Given the description of an element on the screen output the (x, y) to click on. 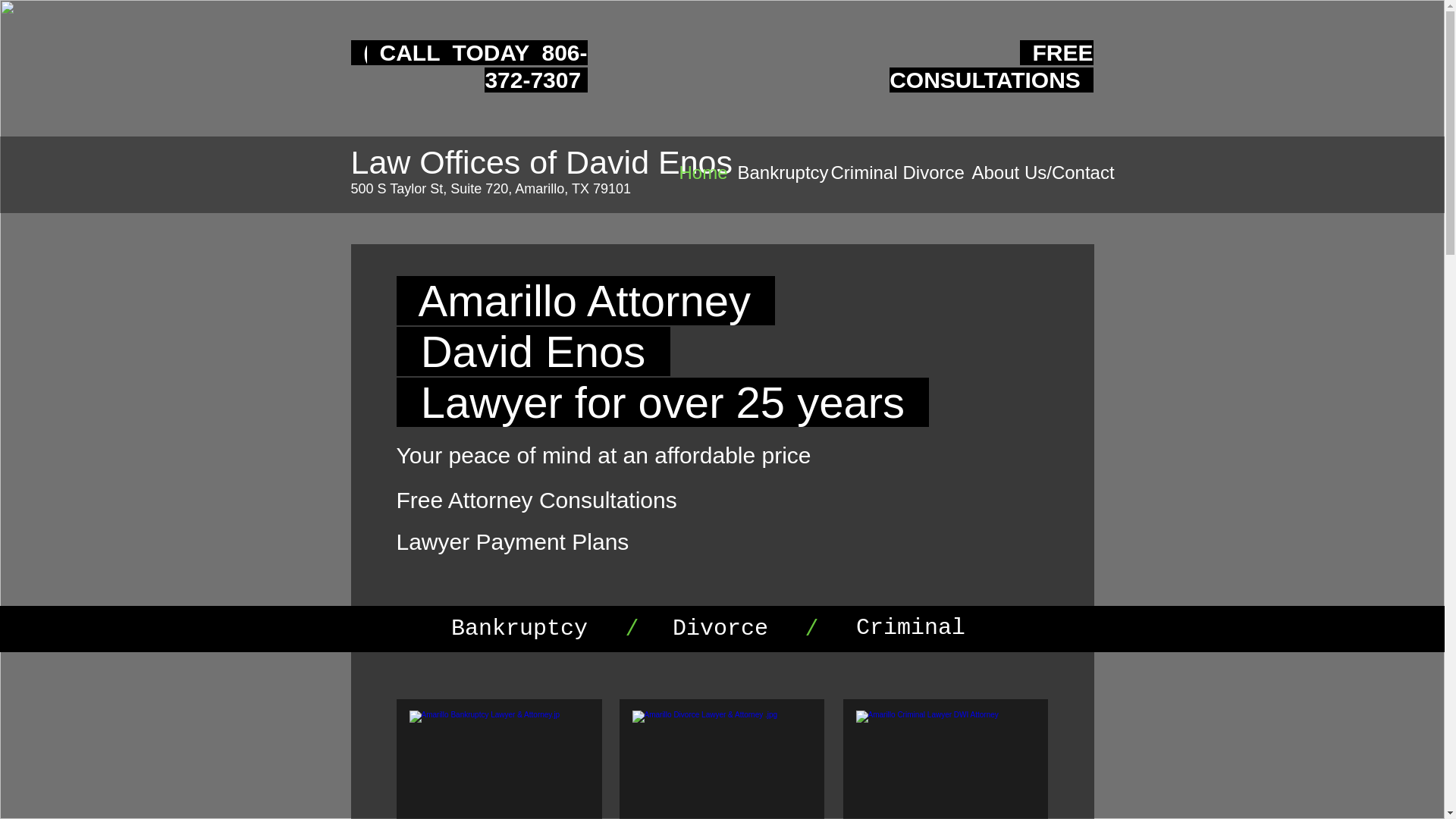
Divorce (719, 628)
Law Offices of David Enos (541, 162)
Bankruptcy (518, 628)
Criminal (854, 172)
Criminal (910, 627)
Bankruptcy (772, 172)
Divorce (925, 172)
Home (695, 172)
